Given the description of an element on the screen output the (x, y) to click on. 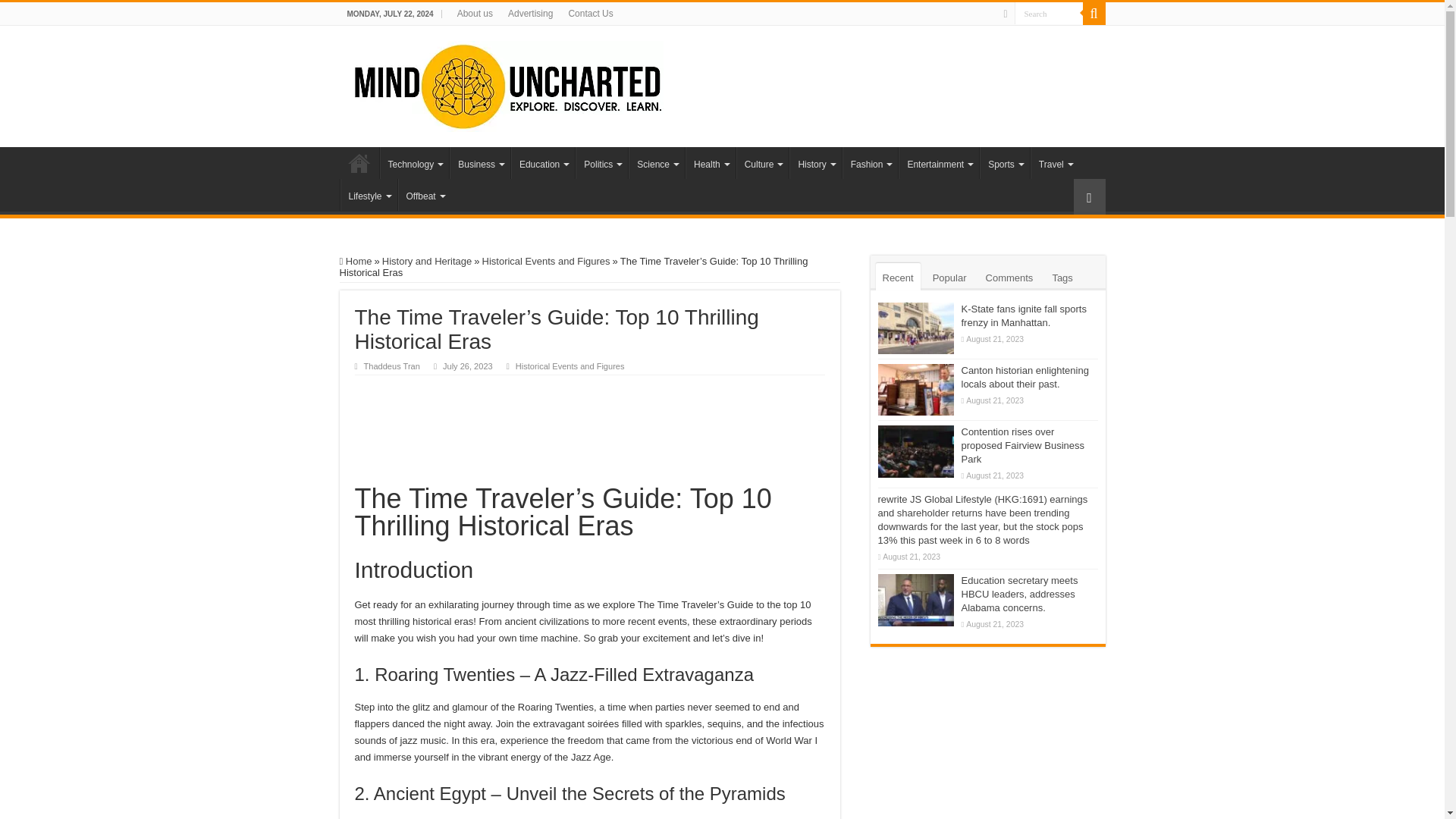
Search (1048, 13)
Search (1048, 13)
Search (1048, 13)
Mind Uncharted (506, 83)
